Given the description of an element on the screen output the (x, y) to click on. 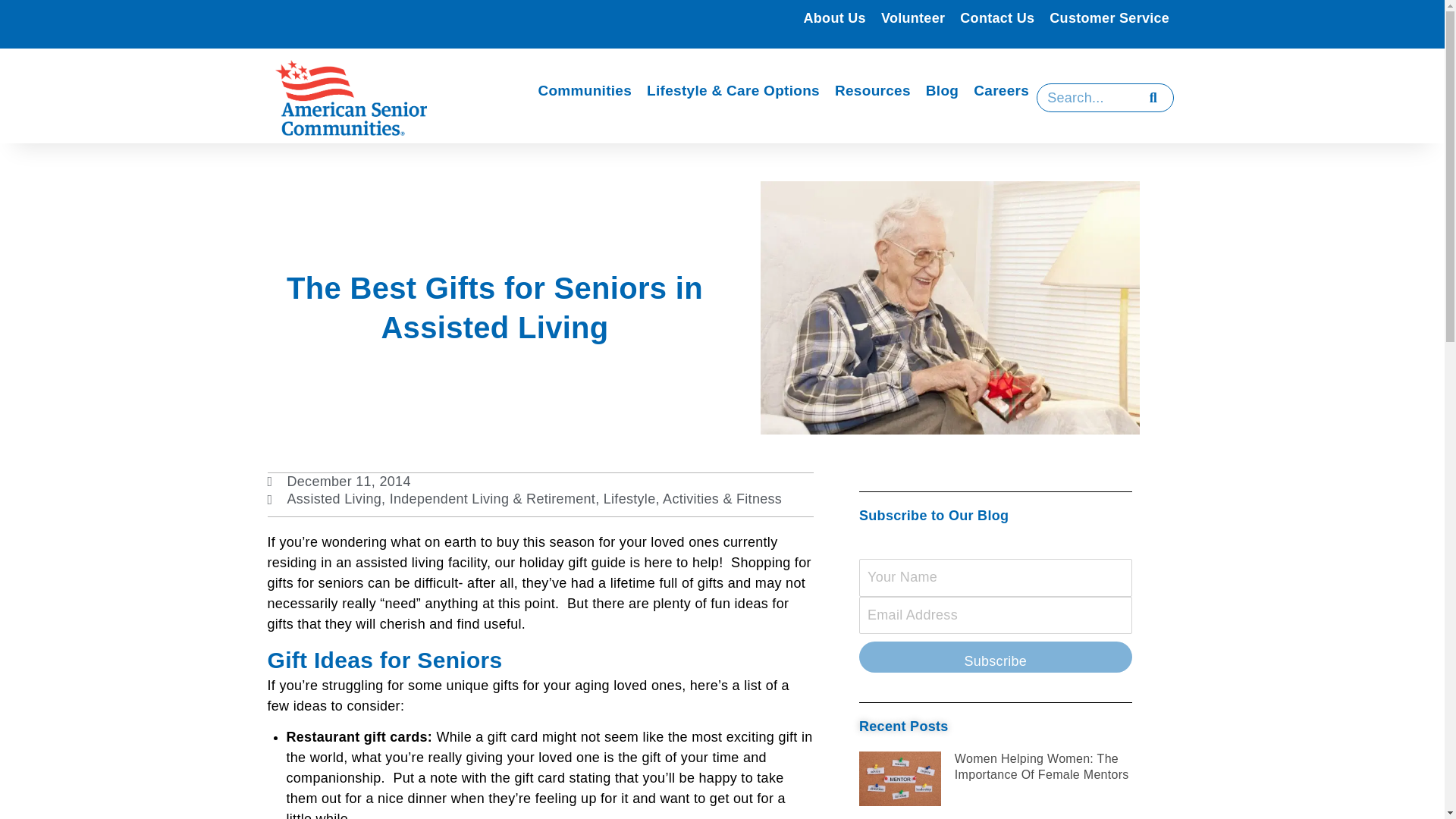
Contact Us (997, 18)
Volunteer (912, 18)
Customer Service (1109, 18)
Communities (584, 91)
About Us (834, 18)
